Given the description of an element on the screen output the (x, y) to click on. 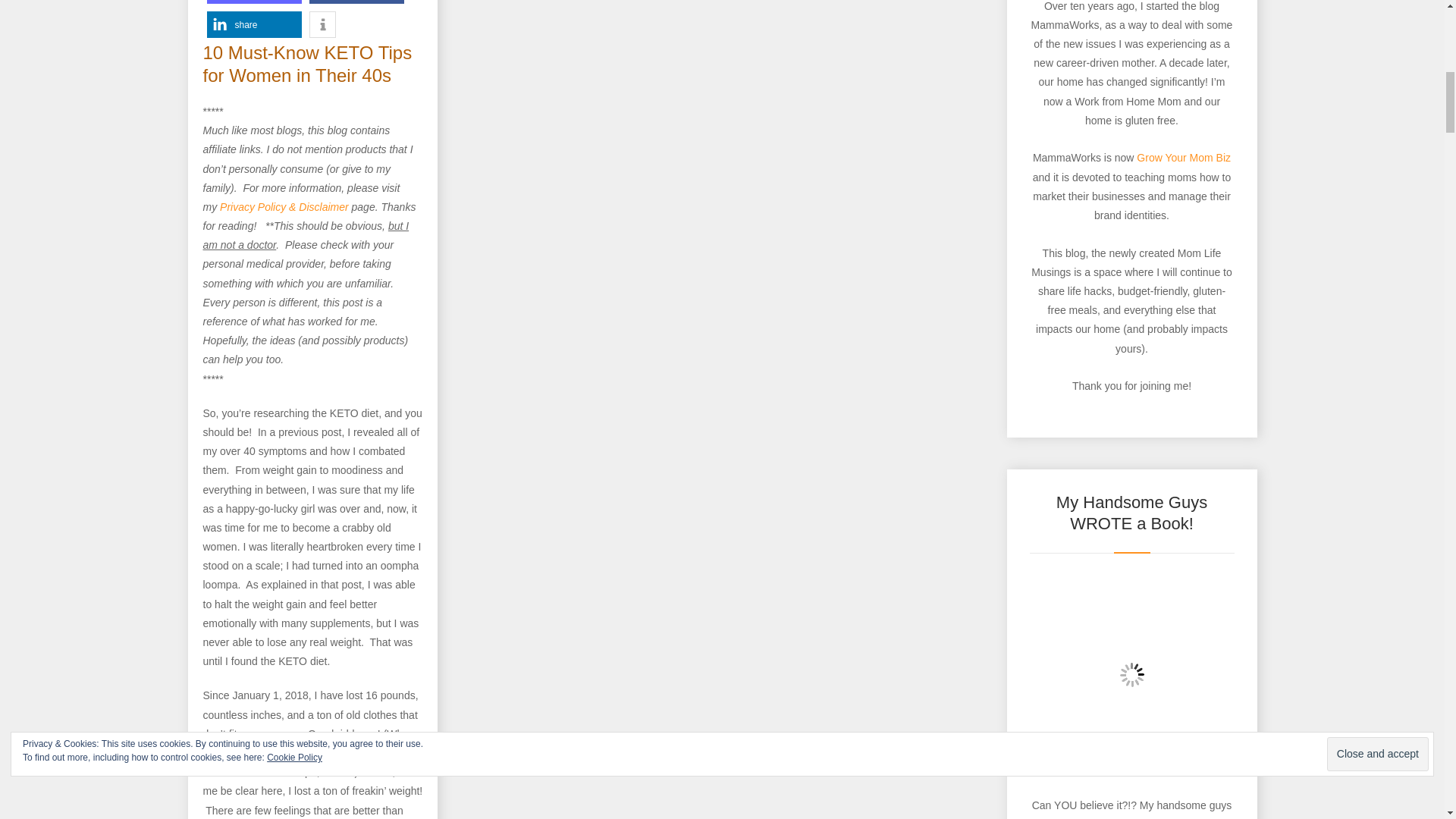
Share on Mastodon (253, 2)
More information (322, 23)
share  (253, 2)
Share on Facebook (356, 2)
share  (356, 2)
Share on LinkedIn (253, 23)
share  (253, 23)
